Given the description of an element on the screen output the (x, y) to click on. 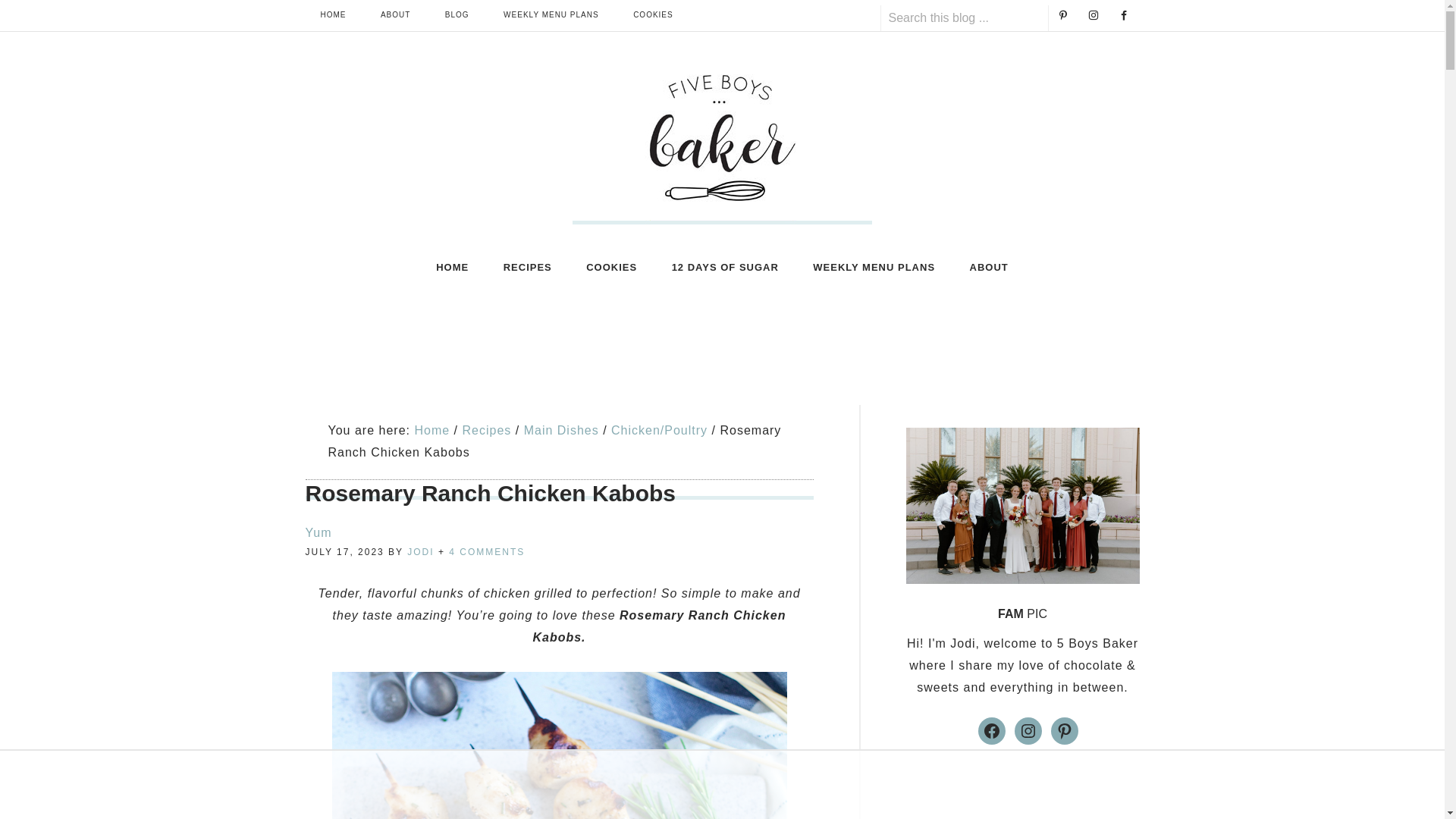
ABOUT (989, 266)
WEEKLY MENU PLANS (873, 266)
JODI (420, 552)
12 DAYS OF SUGAR (724, 266)
Recipes (486, 430)
Main Dishes (561, 430)
COOKIES (611, 266)
4 COMMENTS (486, 552)
ABOUT (395, 15)
WEEKLY MENU PLANS (550, 15)
Home (431, 430)
HOME (332, 15)
